Given the description of an element on the screen output the (x, y) to click on. 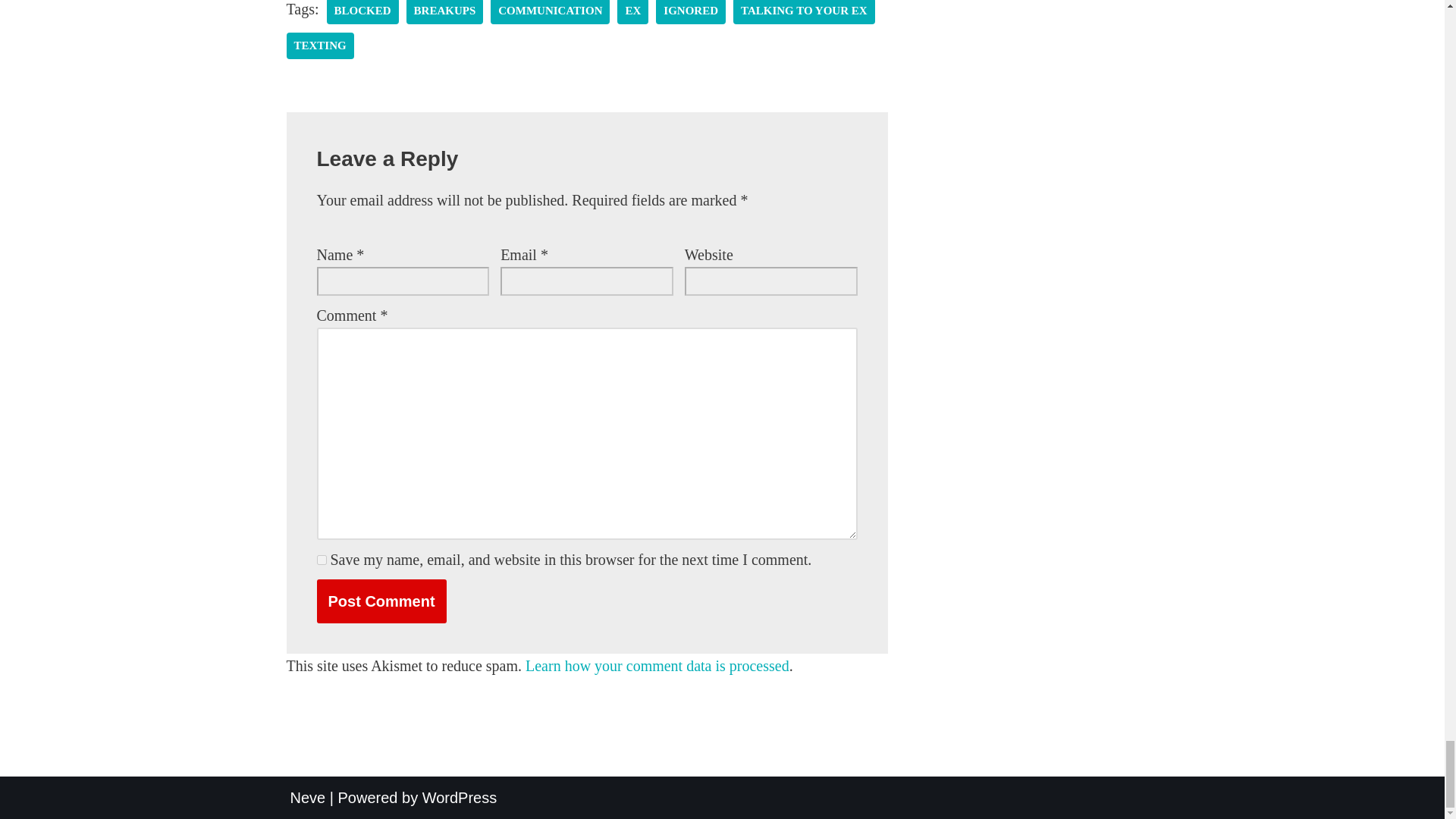
yes (321, 560)
Post Comment (381, 601)
communication (550, 12)
breakups (444, 12)
ignored (690, 12)
texting (319, 45)
ex (632, 12)
talking to your ex (804, 12)
blocked (362, 12)
